Given the description of an element on the screen output the (x, y) to click on. 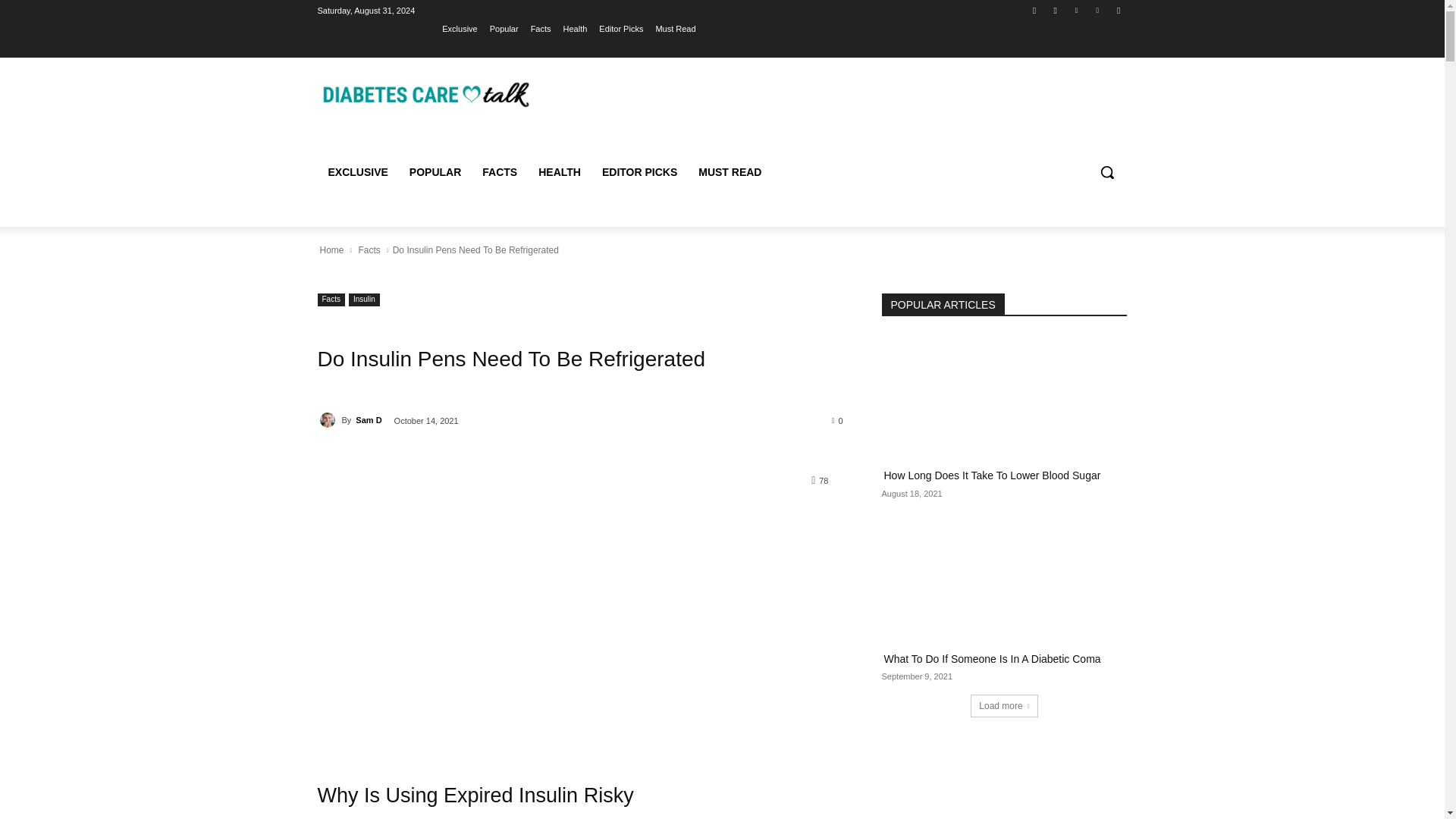
Twitter (1075, 9)
Home (331, 250)
Must Read (675, 28)
Popular (503, 28)
Facts (541, 28)
EDITOR PICKS (639, 171)
Facts (368, 250)
Editor Picks (620, 28)
Facts (330, 299)
Sam D (328, 419)
